Given the description of an element on the screen output the (x, y) to click on. 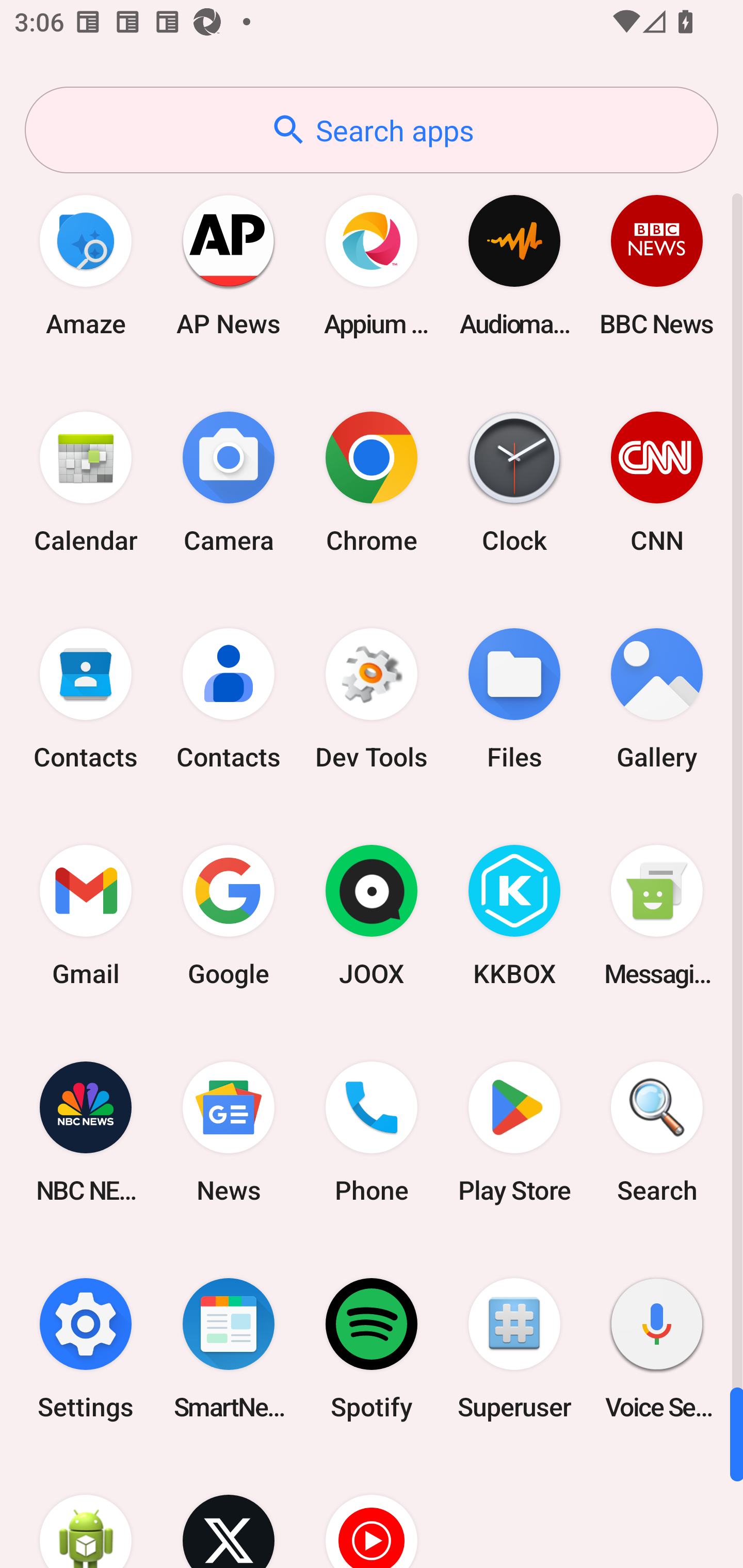
  Search apps (371, 130)
Amaze (85, 264)
AP News (228, 264)
Appium Settings (371, 264)
Audio­mack (514, 264)
BBC News (656, 264)
Calendar (85, 482)
Camera (228, 482)
Chrome (371, 482)
Clock (514, 482)
CNN (656, 482)
Contacts (85, 699)
Contacts (228, 699)
Dev Tools (371, 699)
Files (514, 699)
Gallery (656, 699)
Gmail (85, 915)
Google (228, 915)
JOOX (371, 915)
KKBOX (514, 915)
Messaging (656, 915)
NBC NEWS (85, 1131)
News (228, 1131)
Phone (371, 1131)
Play Store (514, 1131)
Search (656, 1131)
Settings (85, 1348)
SmartNews (228, 1348)
Spotify (371, 1348)
Superuser (514, 1348)
Voice Search (656, 1348)
WebView Browser Tester (85, 1512)
X (228, 1512)
YT Music (371, 1512)
